Given the description of an element on the screen output the (x, y) to click on. 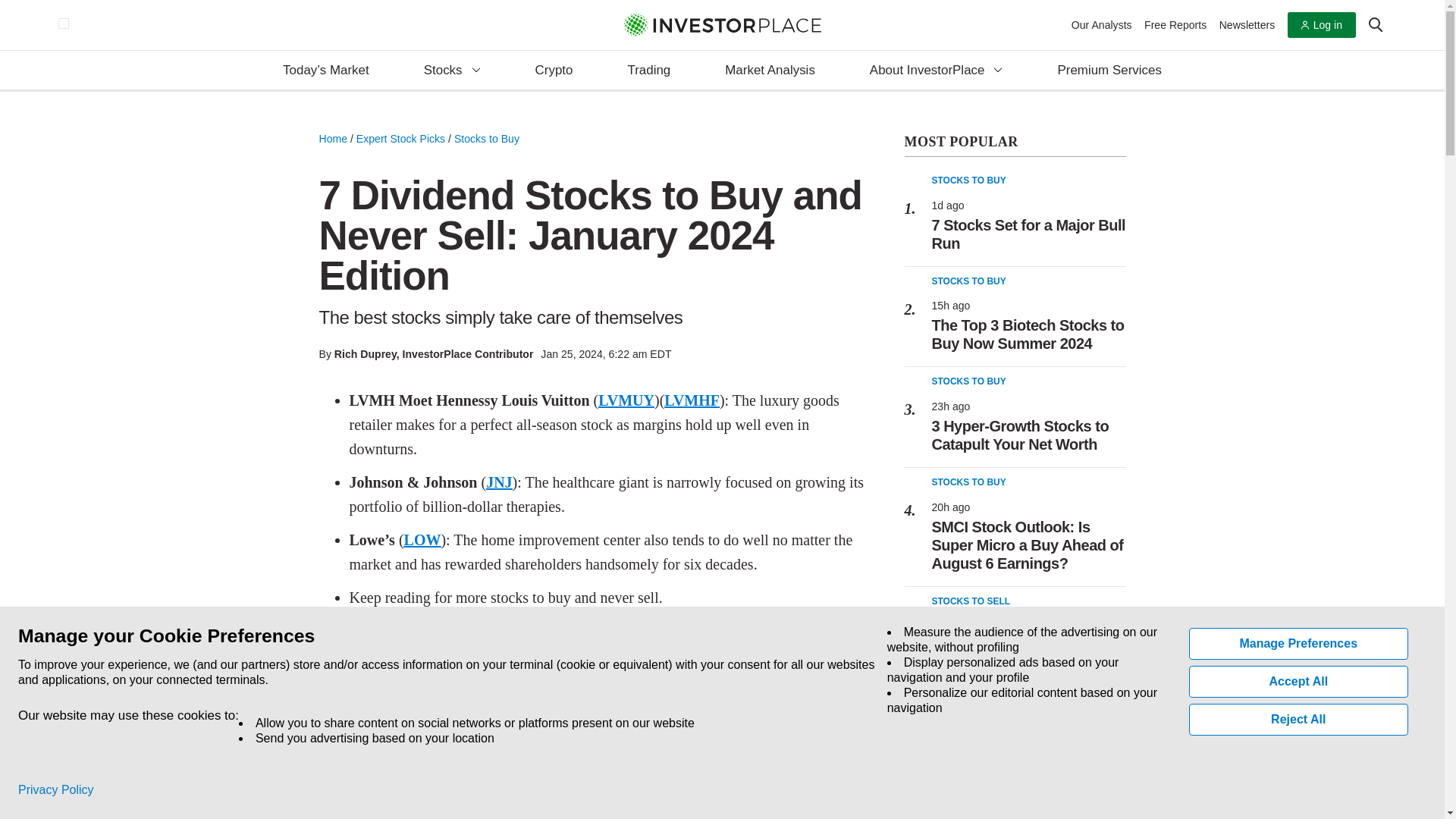
Our Analysts (1101, 24)
View Most Read Content (1014, 142)
Log in (1321, 25)
Manage Preferences (1299, 644)
View profile of Rich Duprey (365, 354)
Reject All (1299, 719)
Free Reports (1175, 24)
Privacy Policy (55, 789)
Newsletters (1247, 24)
Stocks (452, 70)
Accept All (1299, 681)
